Given the description of an element on the screen output the (x, y) to click on. 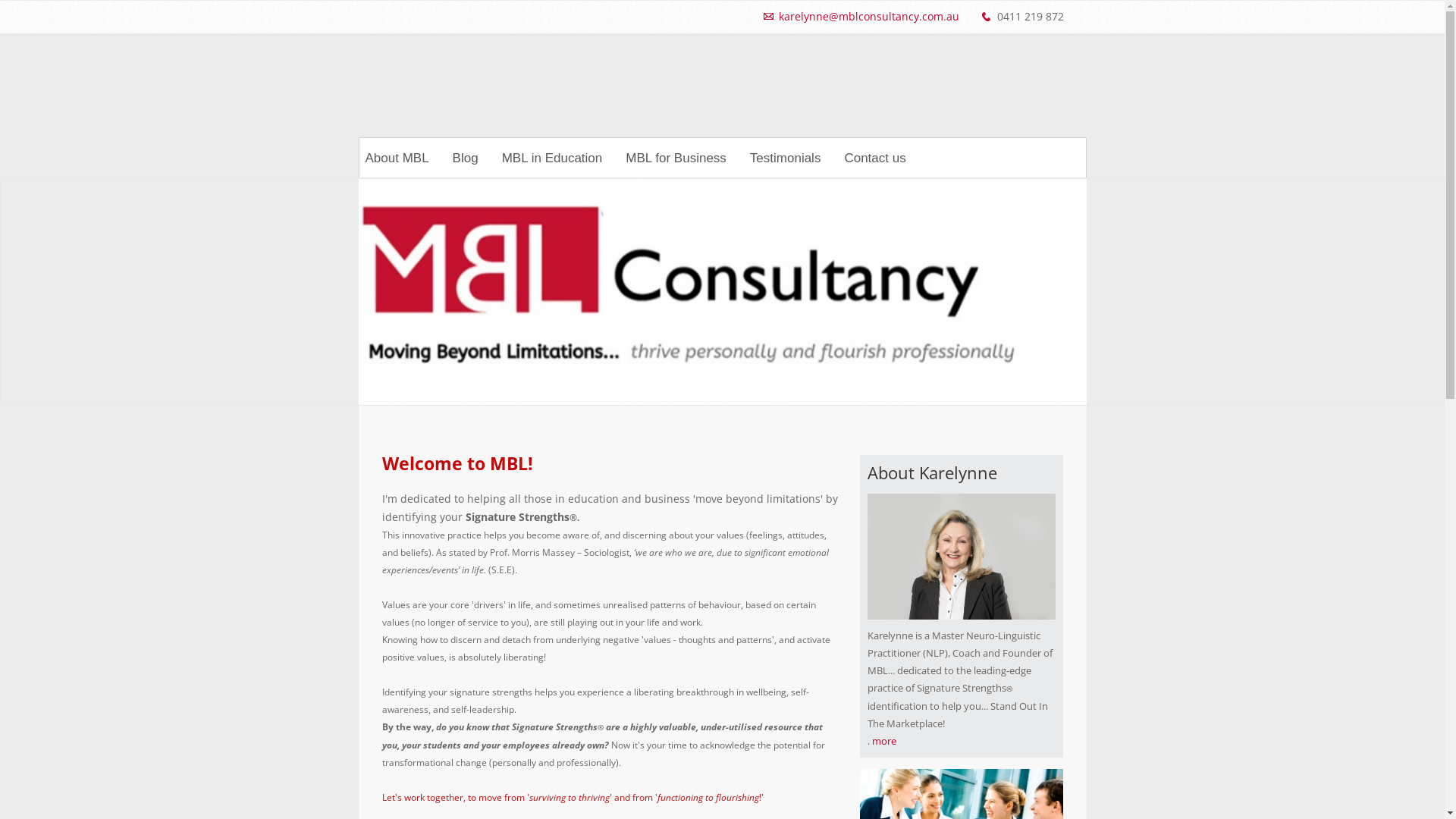
Free Access Now - A Signature Strengths Experience Element type: hover (721, 292)
karelynne@mblconsultancy.com.au Element type: text (868, 16)
MBL for Business Element type: text (675, 158)
MBL in Education Element type: text (551, 158)
Contact us Element type: text (874, 158)
more Element type: text (884, 740)
Blog Element type: text (465, 158)
MBL Consultancy Element type: text (510, 97)
About MBL Element type: text (397, 158)
Testimonials Element type: text (785, 158)
